Given the description of an element on the screen output the (x, y) to click on. 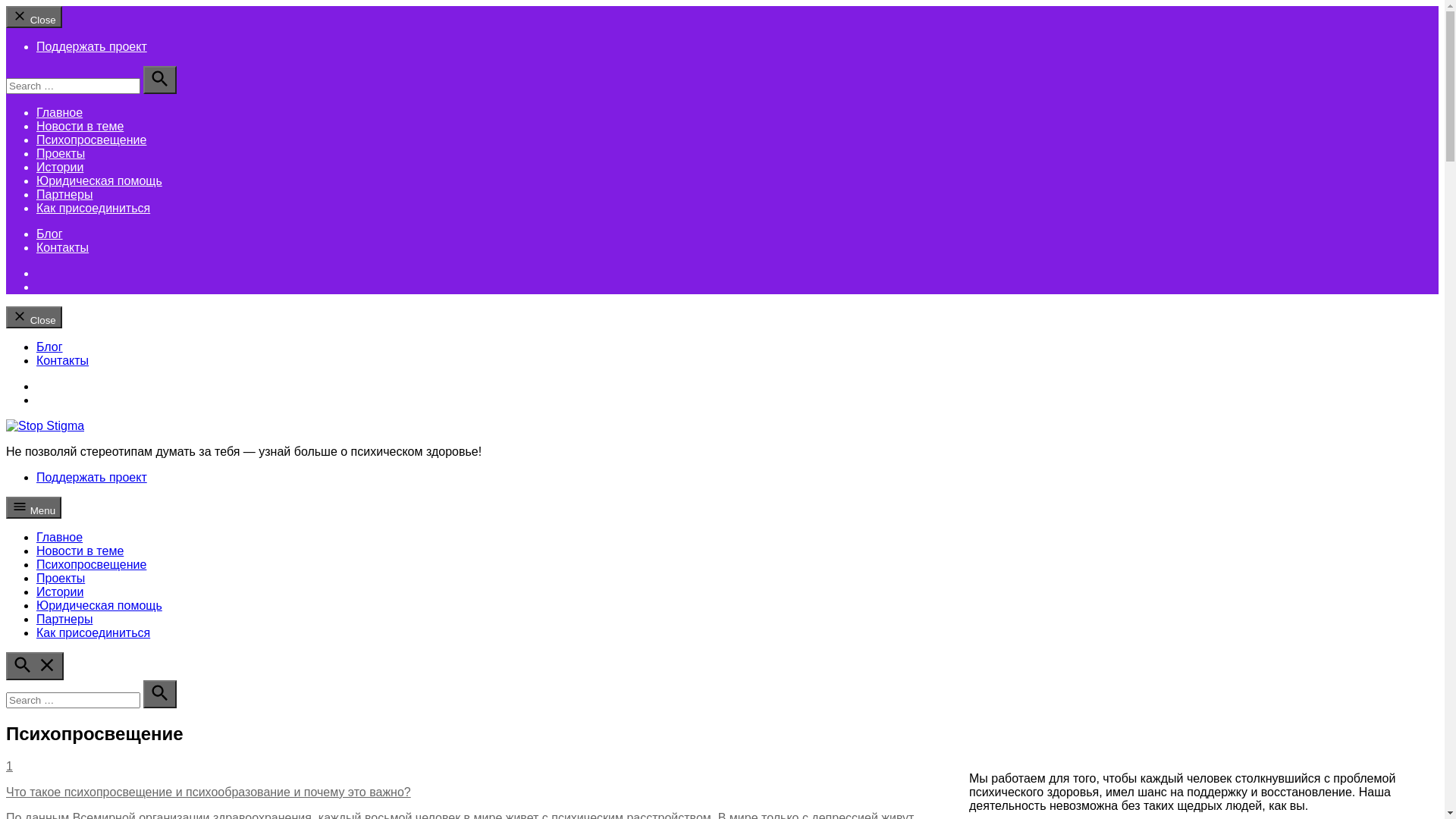
Close Element type: text (34, 317)
Skip to content Element type: text (5, 339)
Close Element type: text (34, 17)
Stop Stigma Element type: text (39, 463)
Open Search Element type: text (34, 666)
Menu Element type: text (33, 507)
Search Element type: text (159, 694)
Search Element type: text (159, 79)
